Given the description of an element on the screen output the (x, y) to click on. 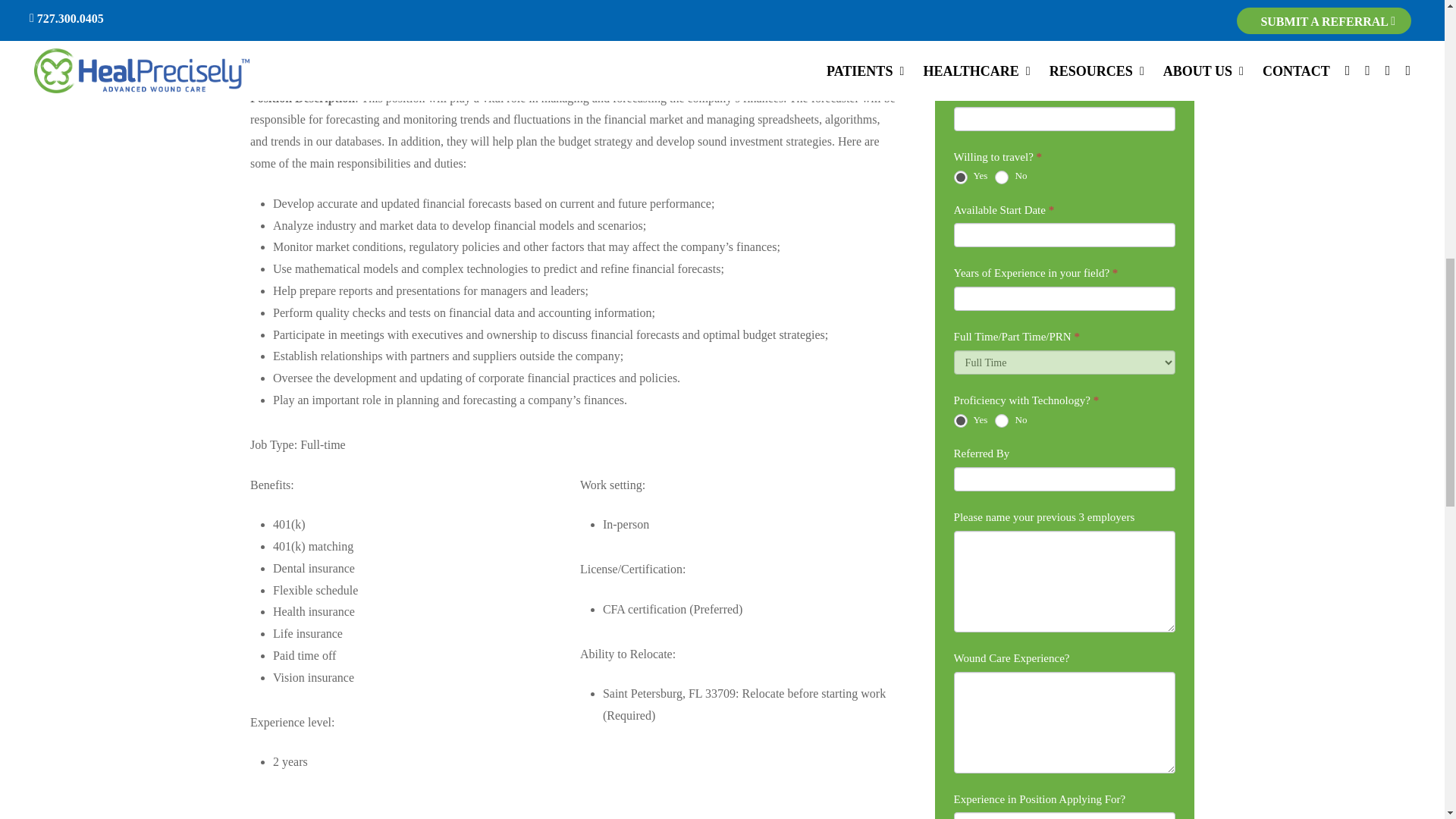
No (1001, 176)
No (1001, 420)
Yes (960, 420)
Yes (960, 176)
